Given the description of an element on the screen output the (x, y) to click on. 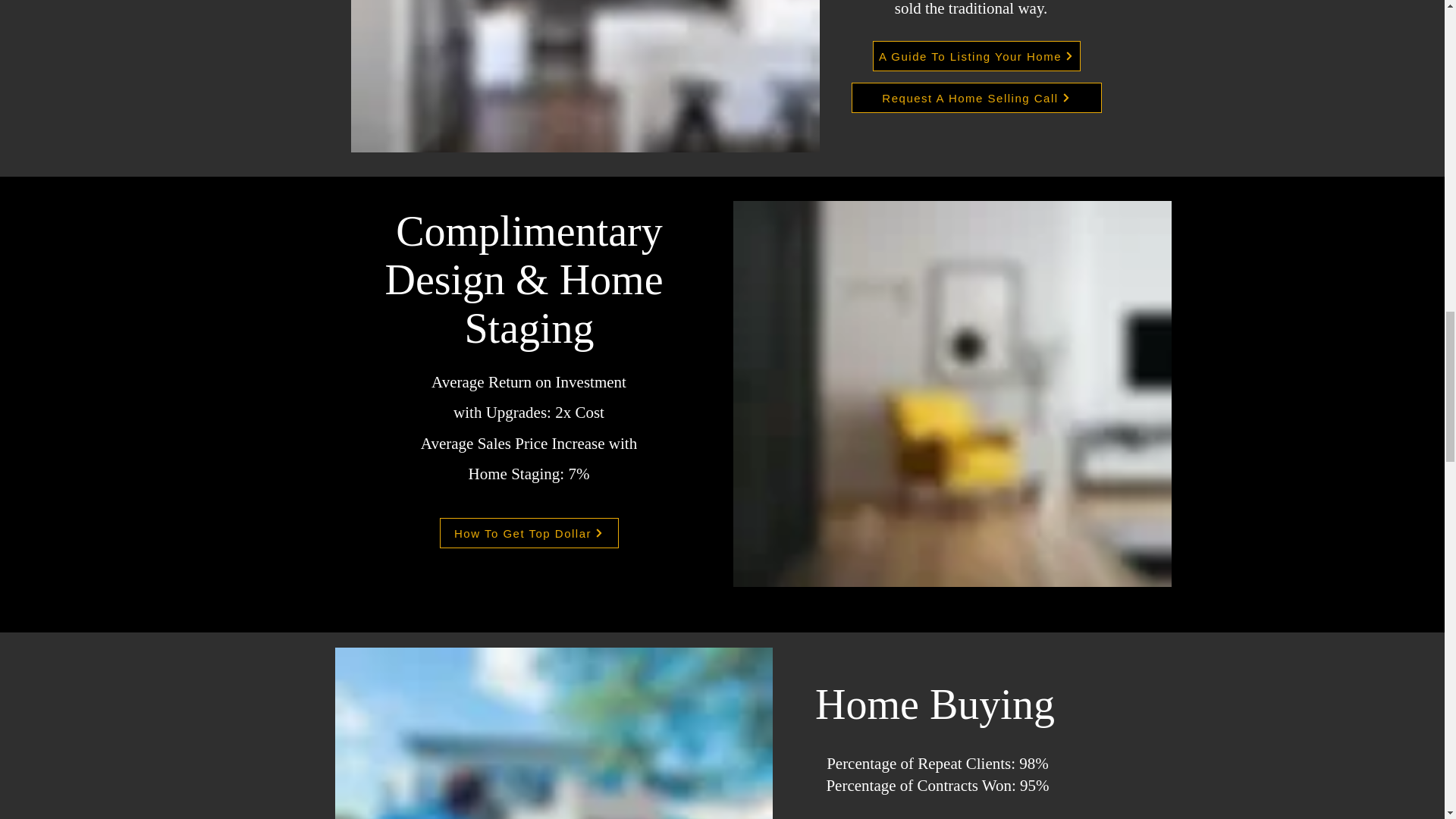
Request A Home Selling Call (975, 97)
A Guide To Listing Your Home (976, 55)
How To Get Top Dollar (528, 532)
